Given the description of an element on the screen output the (x, y) to click on. 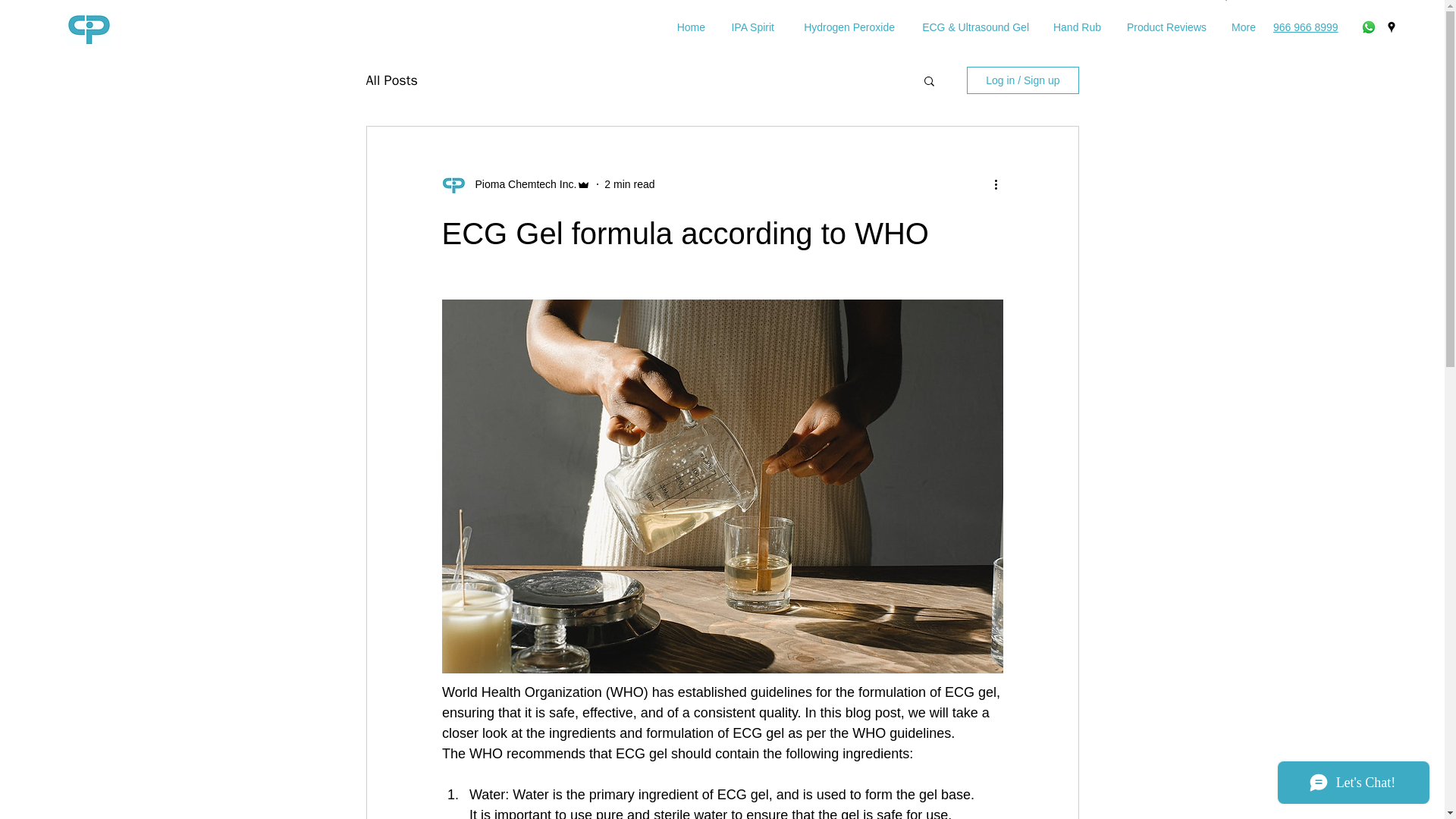
All Posts (390, 80)
2 min read (628, 184)
Hydrogen Peroxide (845, 26)
IPA Spirit (751, 26)
Pioma Chemtech Inc. (520, 184)
966 966 8999 (1305, 27)
Hand Rub (1076, 26)
Product Reviews (1164, 26)
Home (689, 26)
